Given the description of an element on the screen output the (x, y) to click on. 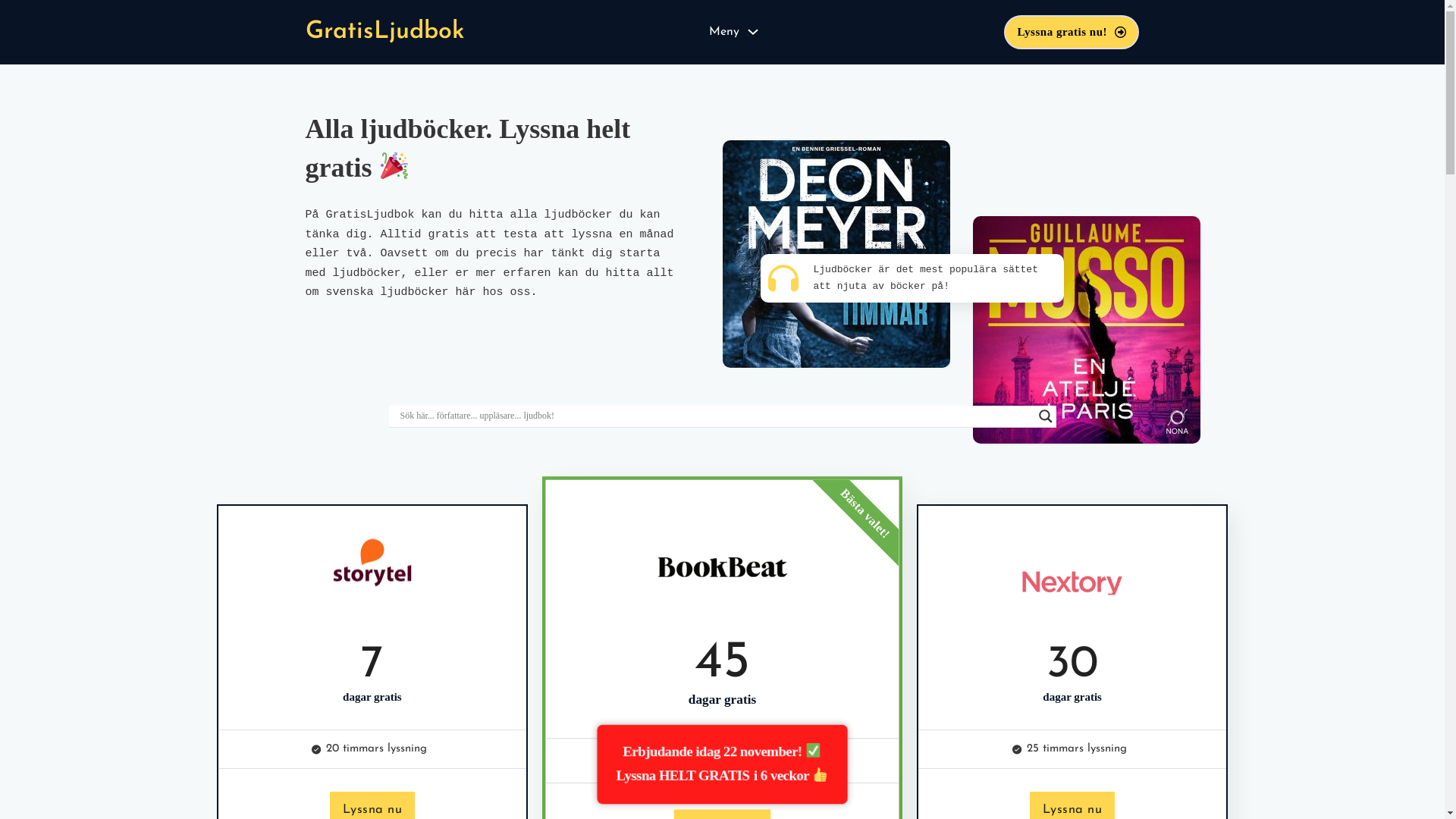
GratisLjudbok Element type: text (384, 31)
Lyssna gratis nu! Element type: text (1071, 32)
Meny Element type: text (724, 31)
